Given the description of an element on the screen output the (x, y) to click on. 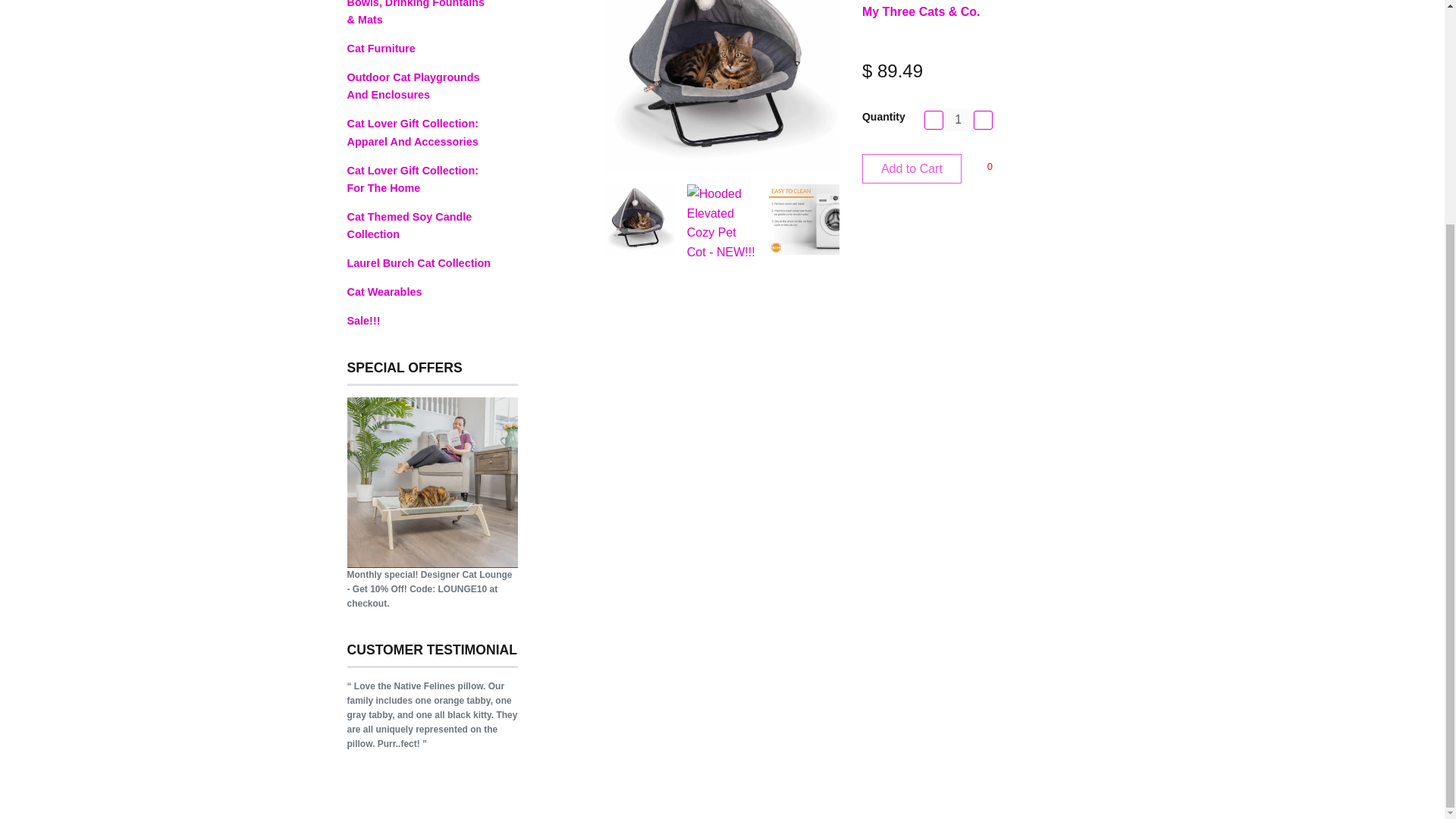
1 (958, 119)
Add to Wishlist (989, 166)
0 (989, 166)
